Given the description of an element on the screen output the (x, y) to click on. 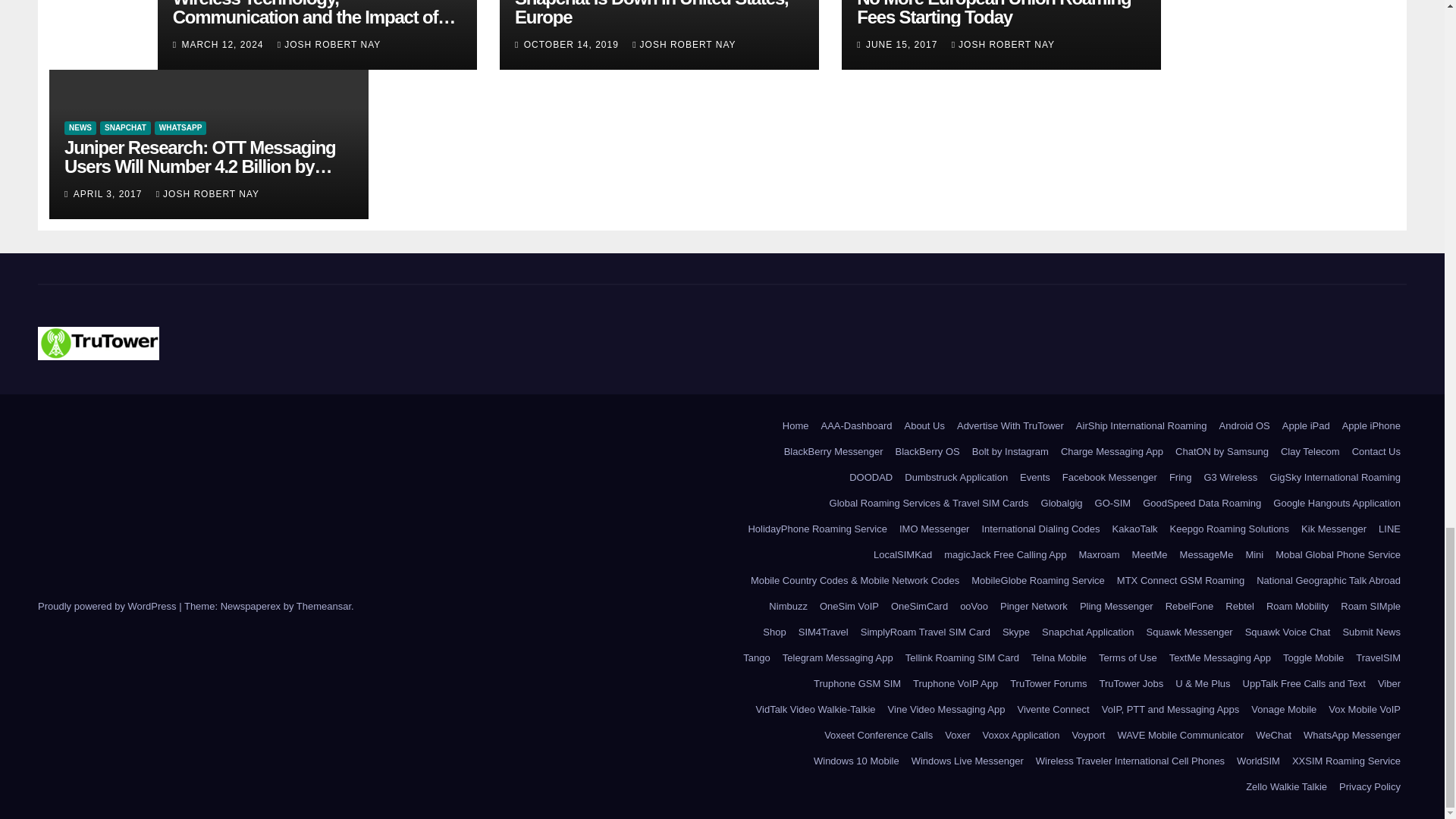
Permalink to: Snapchat is Down in United States, Europe (652, 13)
Home (795, 425)
